Given the description of an element on the screen output the (x, y) to click on. 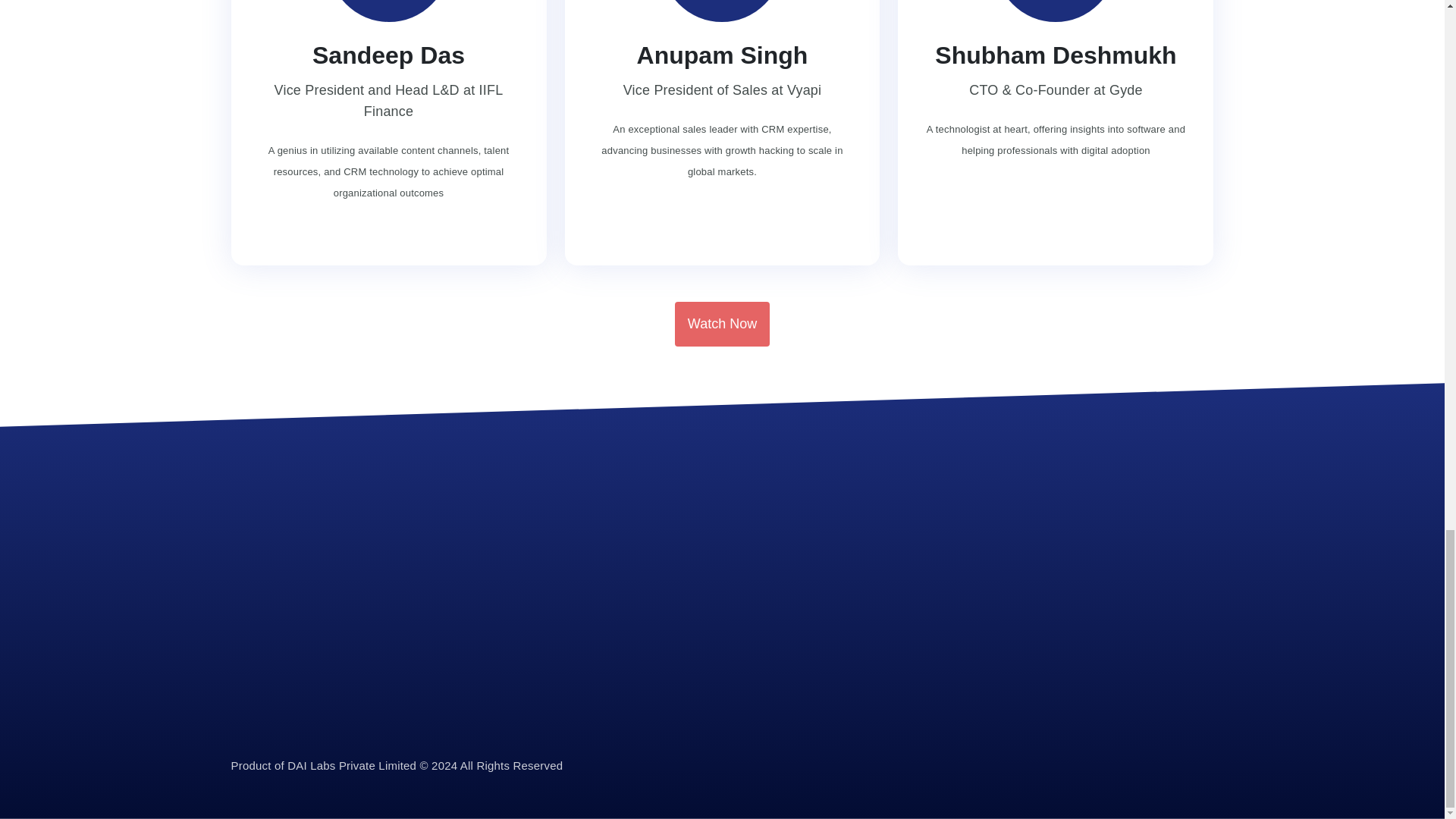
Harry Meijer (387, 11)
Harry Meijer (1055, 11)
Watch Now (722, 324)
Harry Meijer (722, 11)
